Given the description of an element on the screen output the (x, y) to click on. 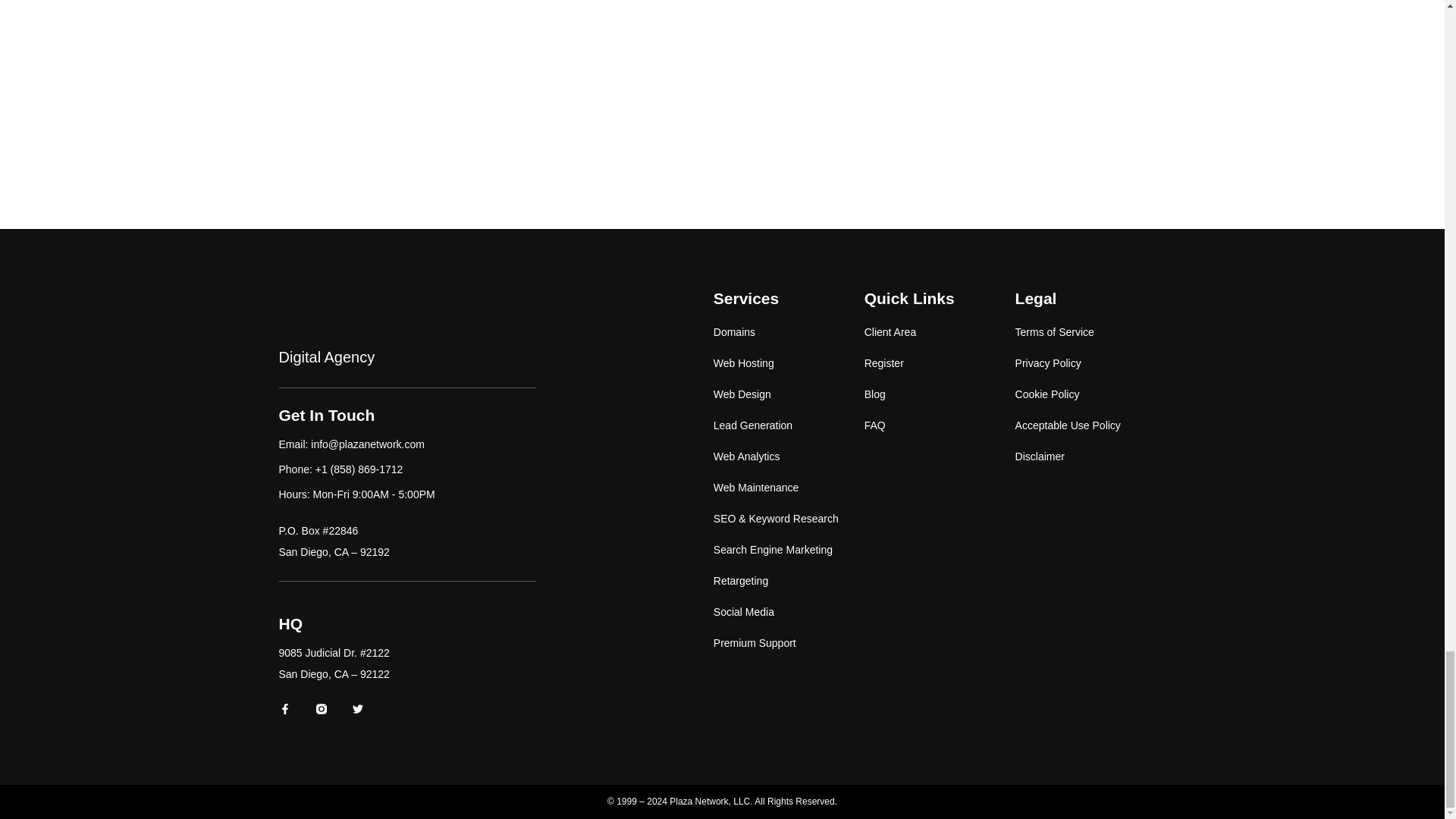
Web Analytics (788, 456)
Web Design (788, 394)
Lead Generation (788, 425)
Domains (788, 332)
Web Hosting (788, 363)
Web Maintenance (788, 487)
Search Engine Marketing (788, 549)
